Given the description of an element on the screen output the (x, y) to click on. 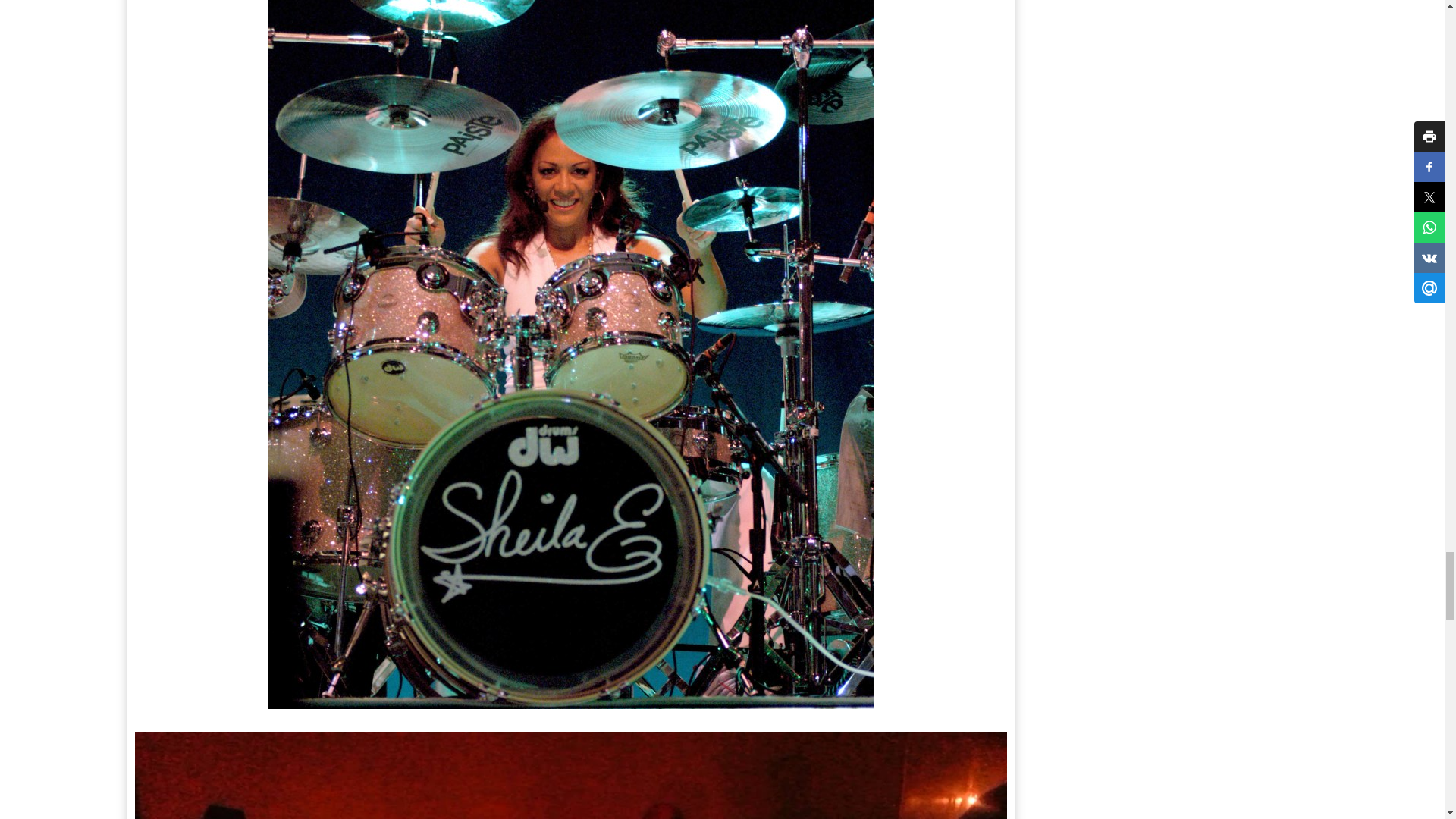
Deepika padukone nude ass (571, 775)
